Given the description of an element on the screen output the (x, y) to click on. 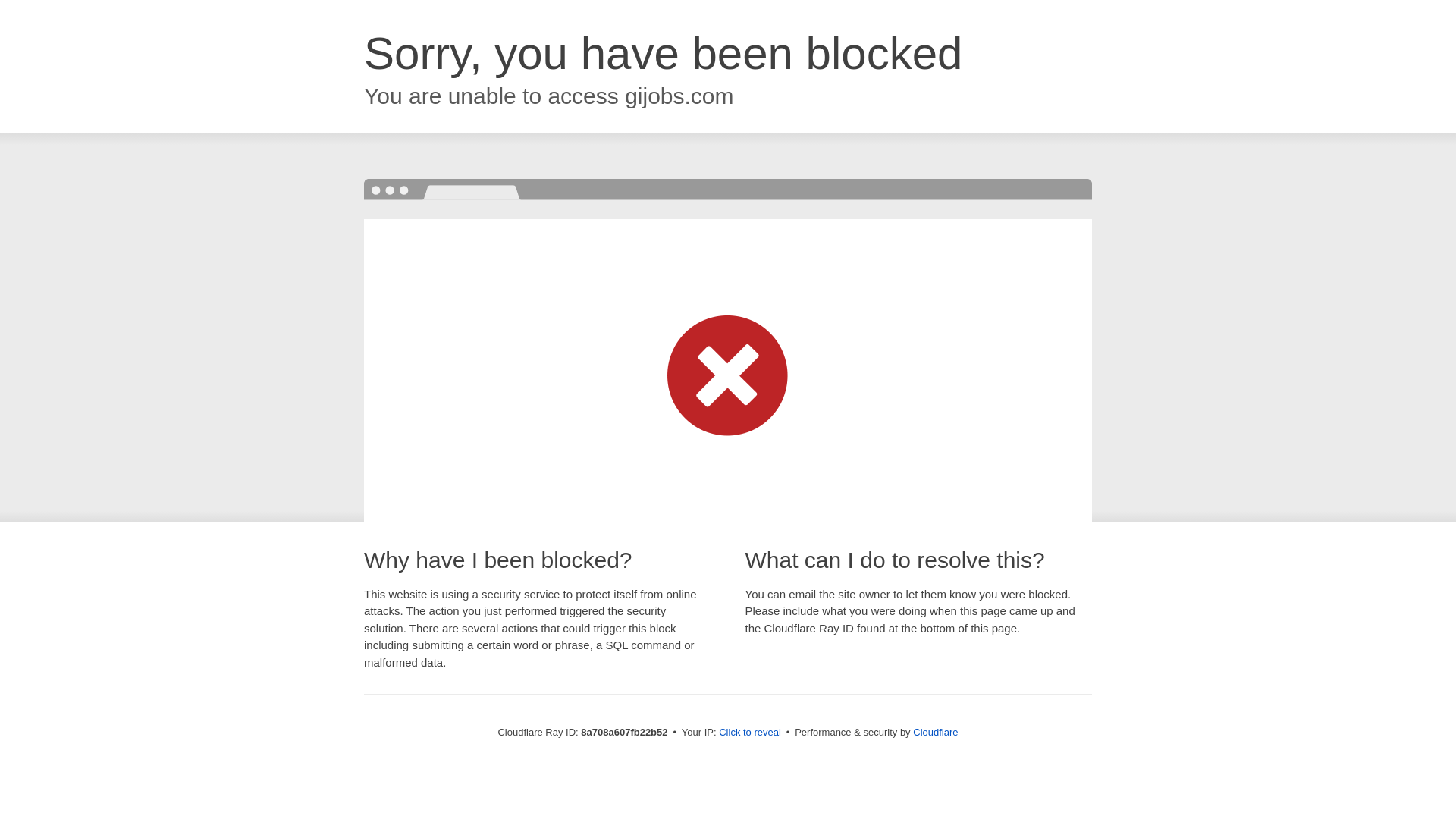
Click to reveal (749, 732)
Cloudflare (935, 731)
